Given the description of an element on the screen output the (x, y) to click on. 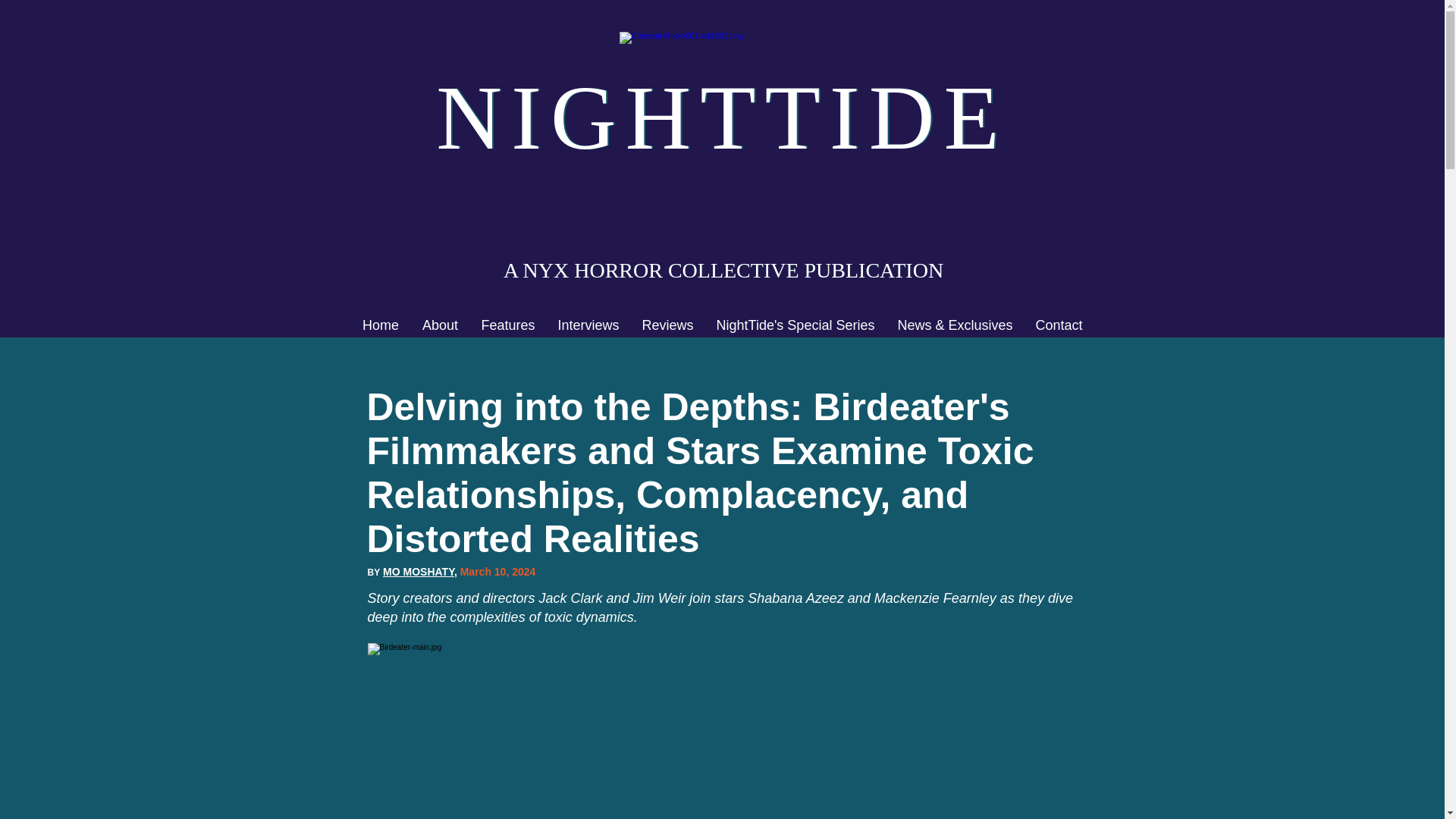
NIGHTTIDE (721, 116)
Interviews (588, 325)
Home (380, 325)
NightTide's Special Series (795, 325)
Reviews (667, 325)
Features (508, 325)
MO MOSHATY (418, 571)
About (440, 325)
Contact (1058, 325)
A NYX HORROR COLLECTIVE PUBLICATION (723, 269)
